Given the description of an element on the screen output the (x, y) to click on. 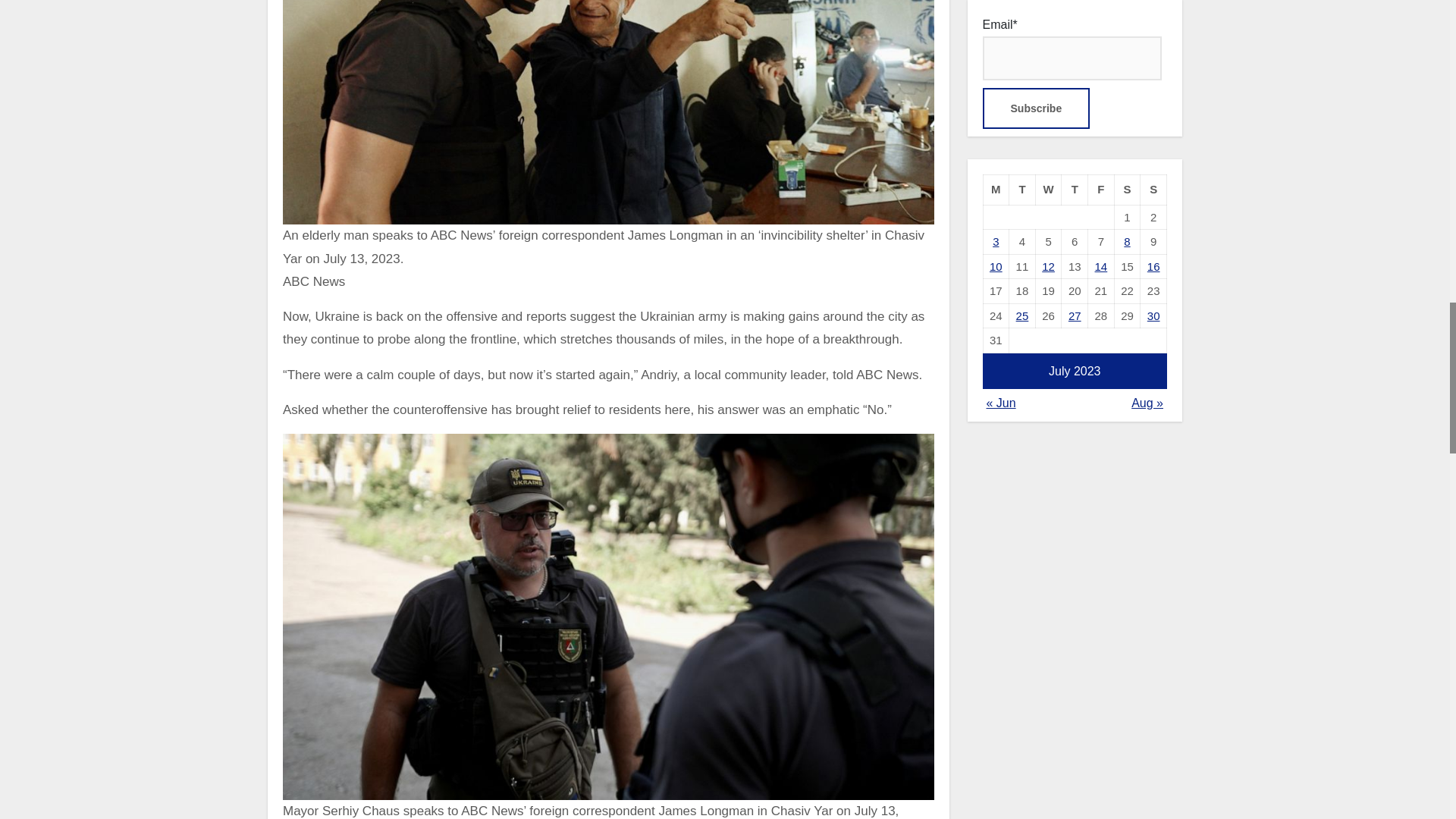
Subscribe (1036, 107)
